Given the description of an element on the screen output the (x, y) to click on. 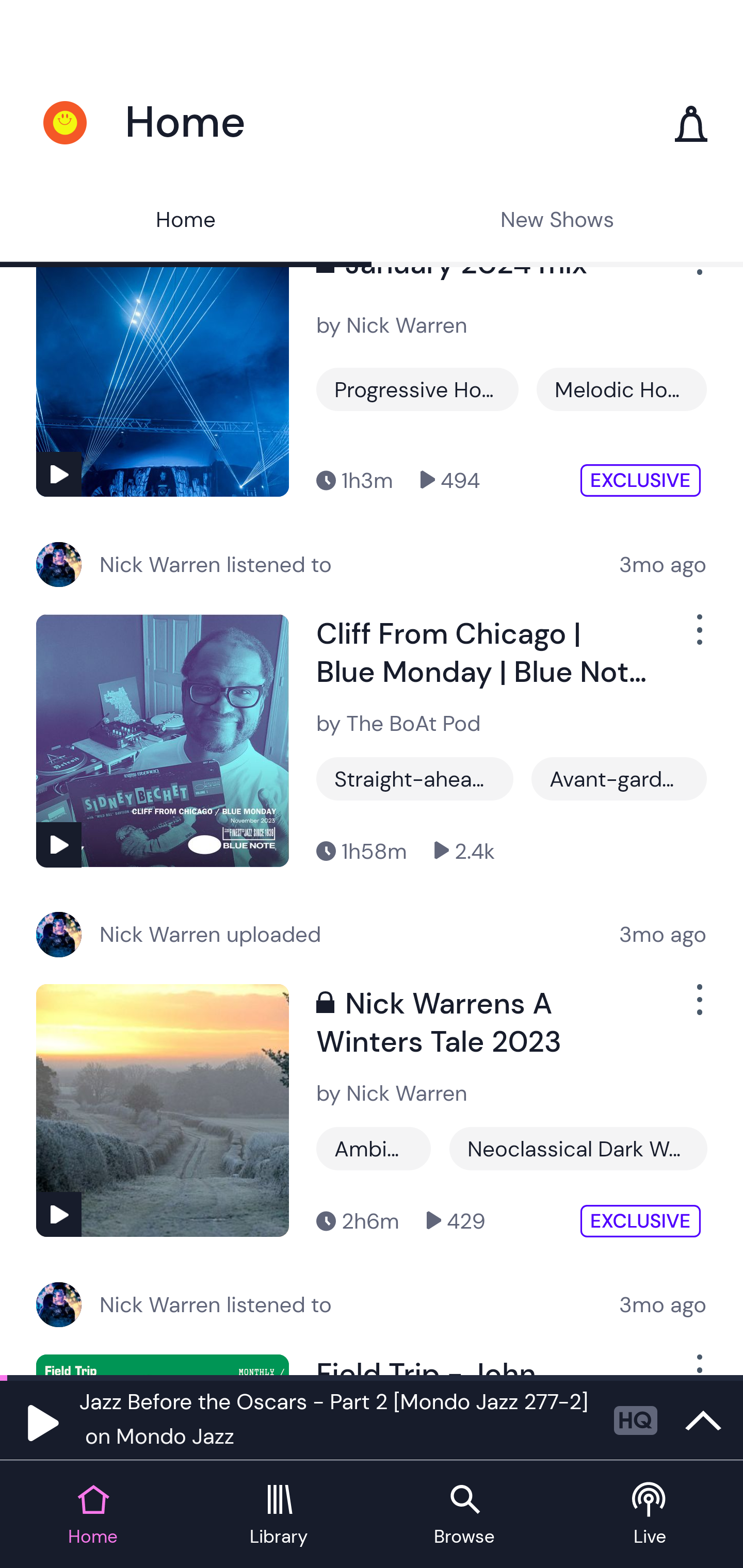
Home (185, 221)
New Shows (557, 221)
Progressive House (417, 389)
Melodic House (621, 389)
Show Options Menu Button (697, 637)
Straight-ahead Jazz (414, 779)
Avant-garde Jazz (618, 779)
Show Options Menu Button (697, 1007)
Ambient (373, 1148)
Neoclassical Dark Wave (577, 1148)
Home tab Home (92, 1515)
Library tab Library (278, 1515)
Browse tab Browse (464, 1515)
Live tab Live (650, 1515)
